Given the description of an element on the screen output the (x, y) to click on. 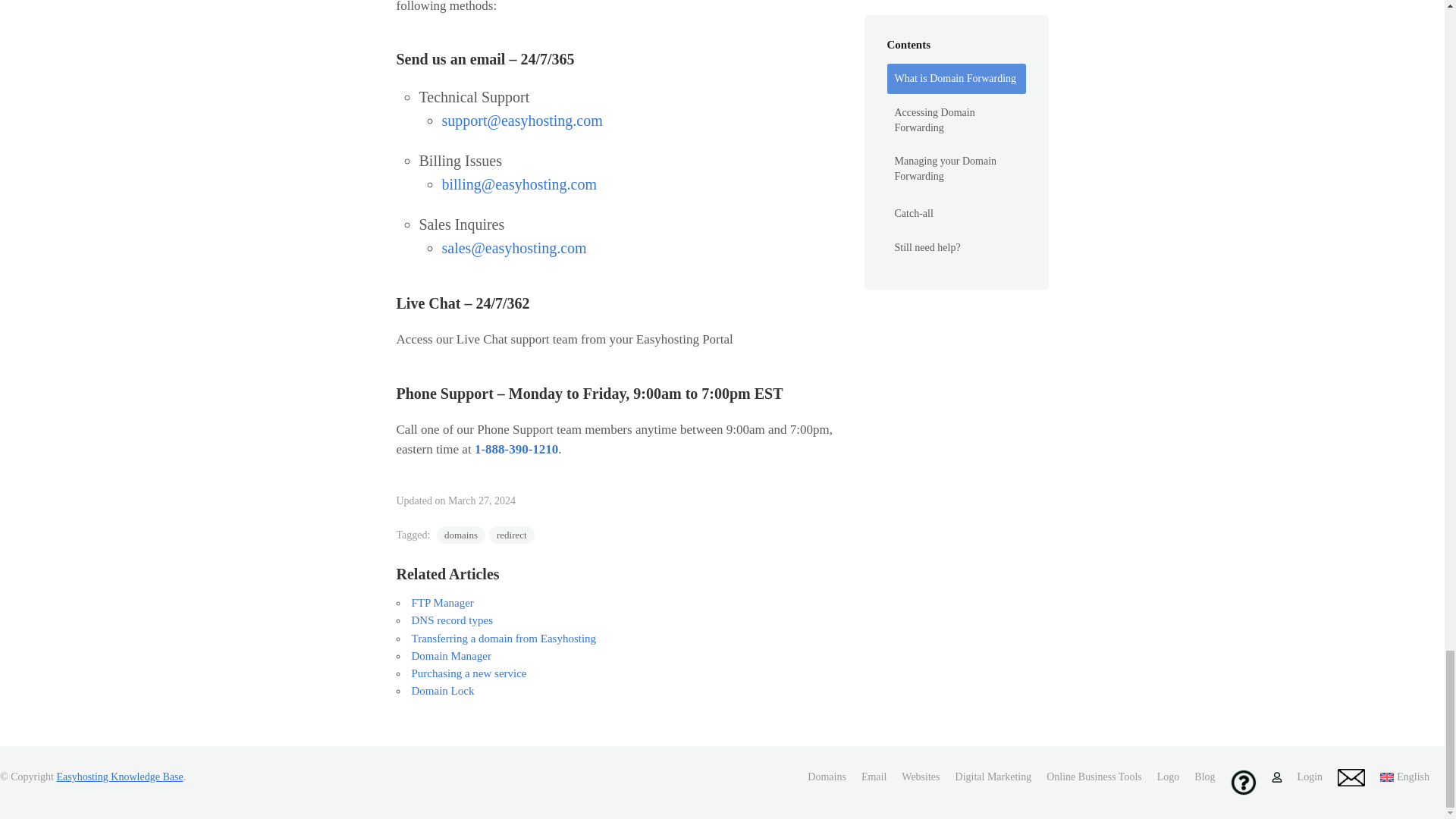
English (1404, 777)
